Given the description of an element on the screen output the (x, y) to click on. 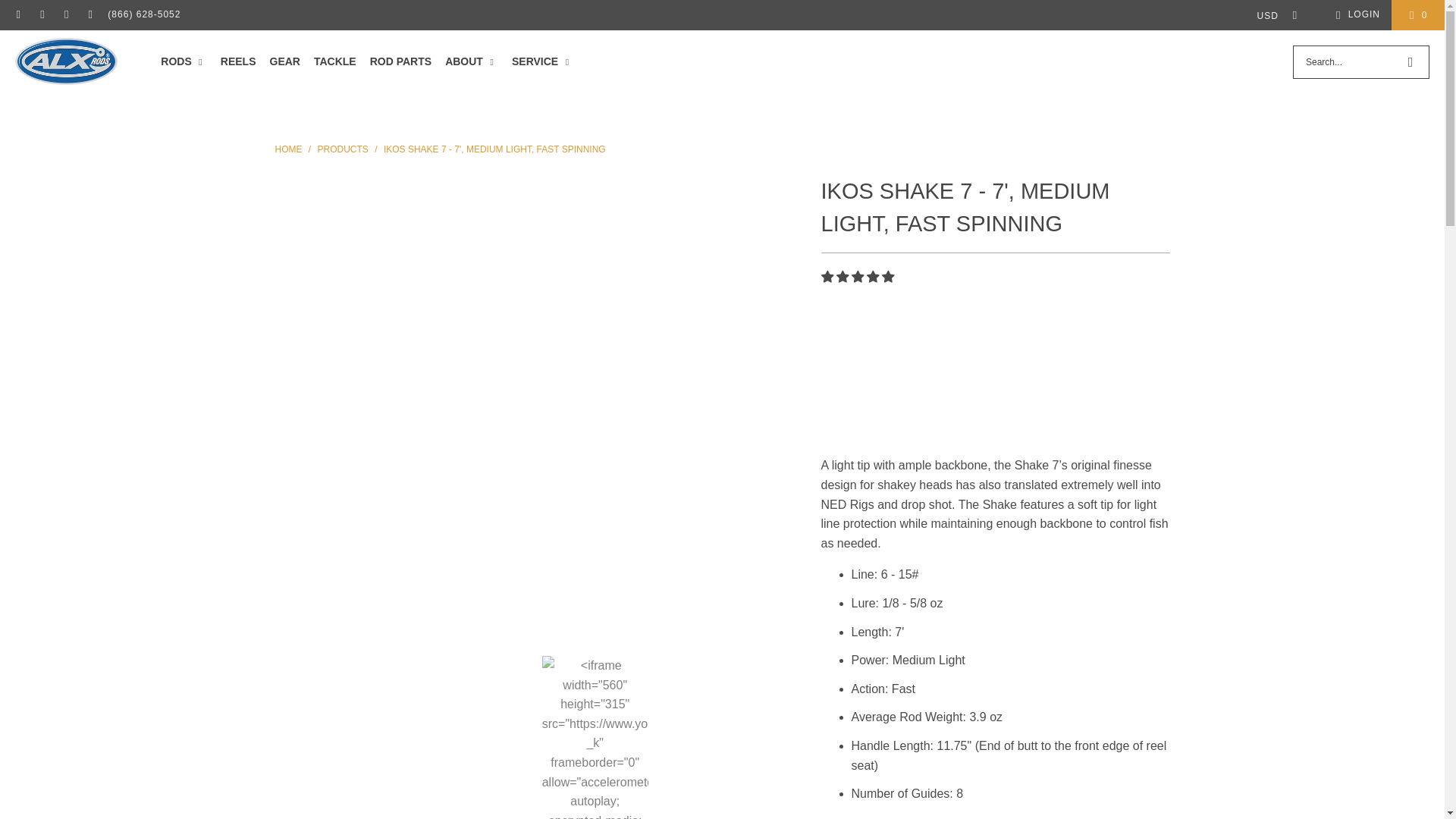
My Account  (1355, 14)
ALX Rods on Instagram (41, 14)
USD (1272, 15)
ALX Rods (288, 149)
ALX Rods on YouTube (89, 14)
Products (342, 149)
ALX Rods on Facebook (17, 14)
ALX Rods on Twitter (65, 14)
ALX Rods (65, 61)
